Given the description of an element on the screen output the (x, y) to click on. 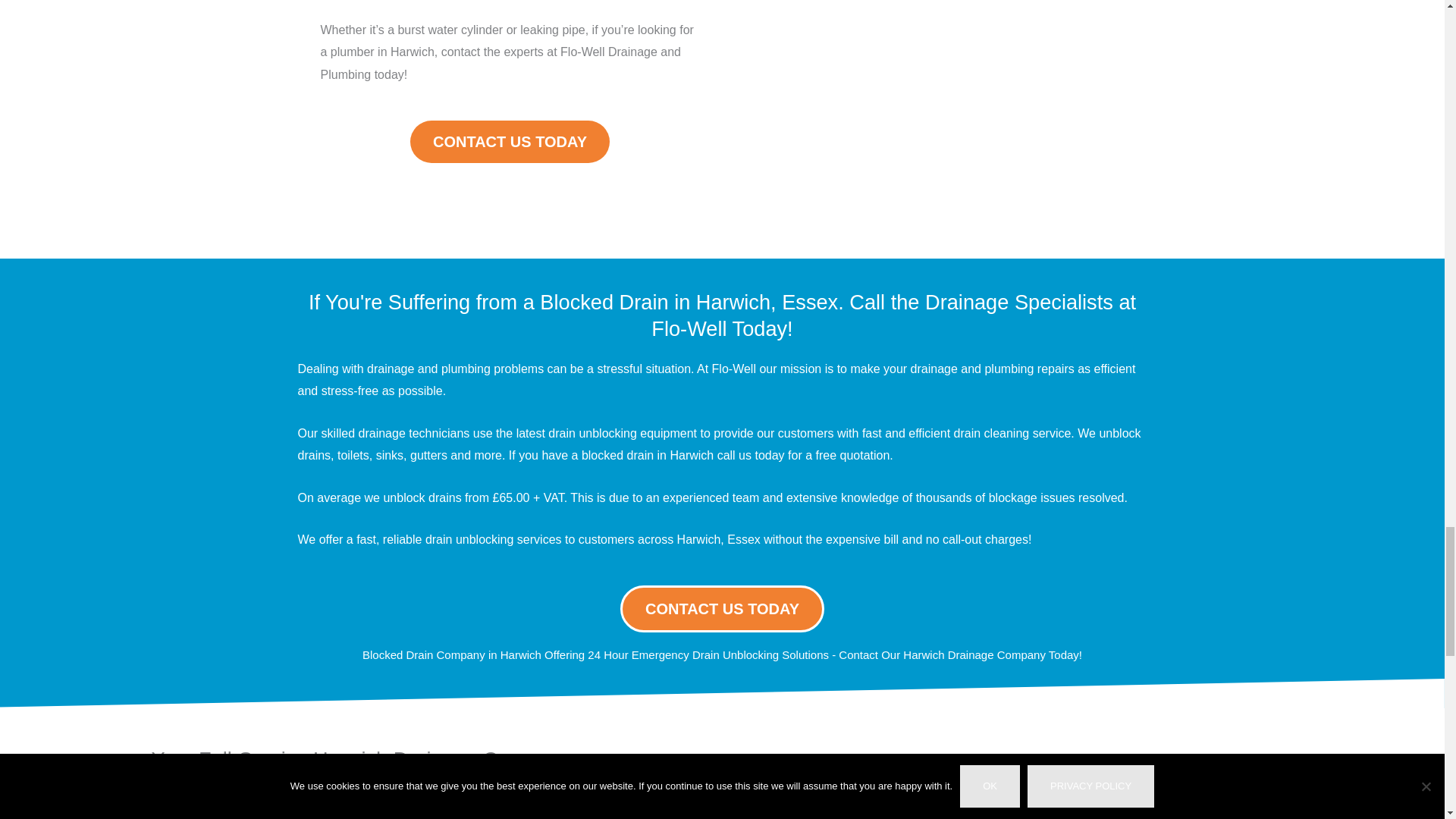
Harwich, Essex (1083, 776)
